Given the description of an element on the screen output the (x, y) to click on. 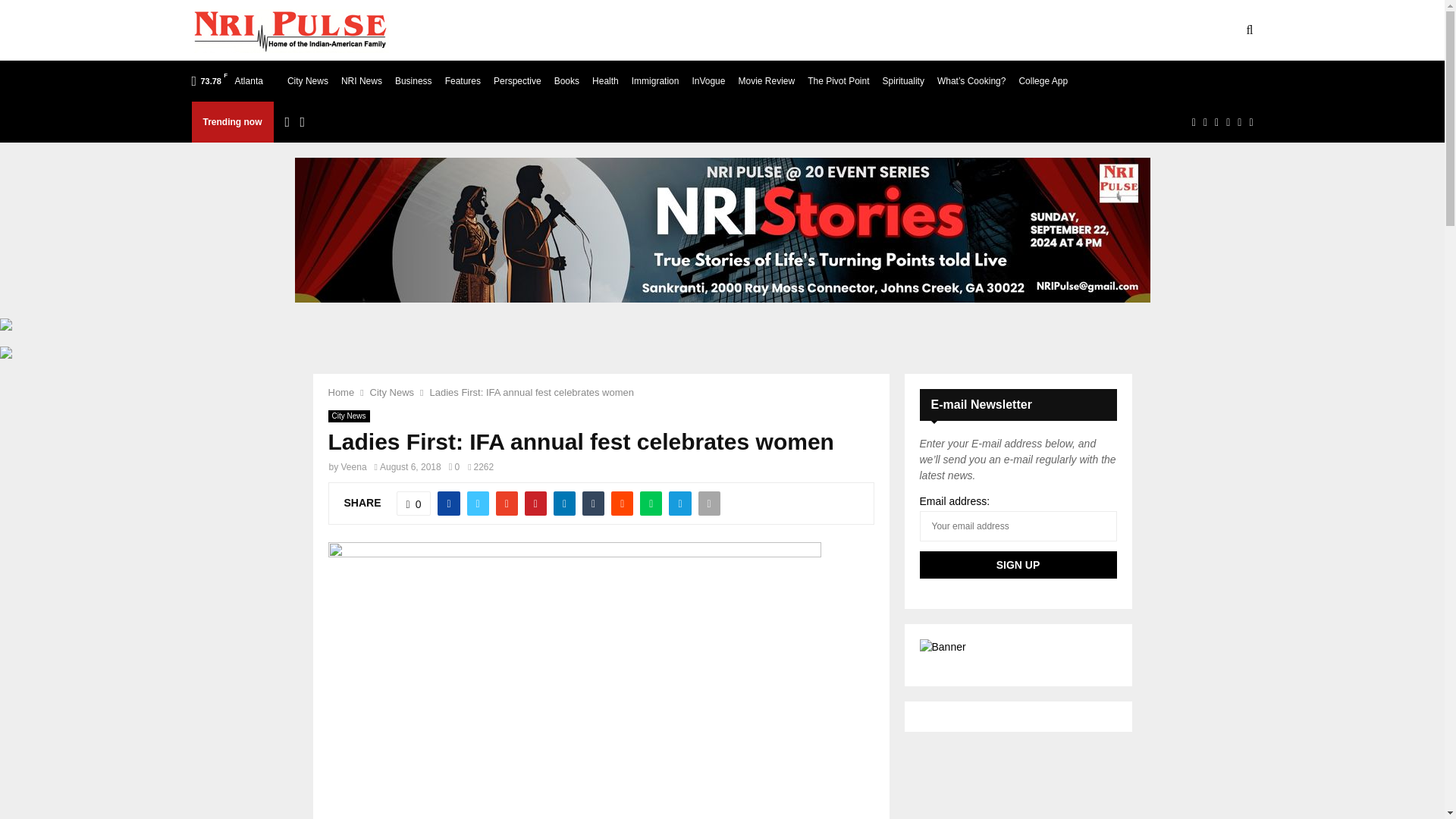
Perspective (517, 80)
ABOUT US (501, 30)
PERSPECTIVE (1063, 30)
Business (413, 80)
ADVERTISE (685, 30)
City News (307, 80)
InVogue (708, 80)
CROWDFUNDERS 2023 (944, 30)
Like (413, 503)
The Pivot Point (838, 80)
Features (462, 80)
NRI News (360, 80)
Movie Review (766, 80)
Spirituality (903, 80)
TERMS OF USE (591, 30)
